Given the description of an element on the screen output the (x, y) to click on. 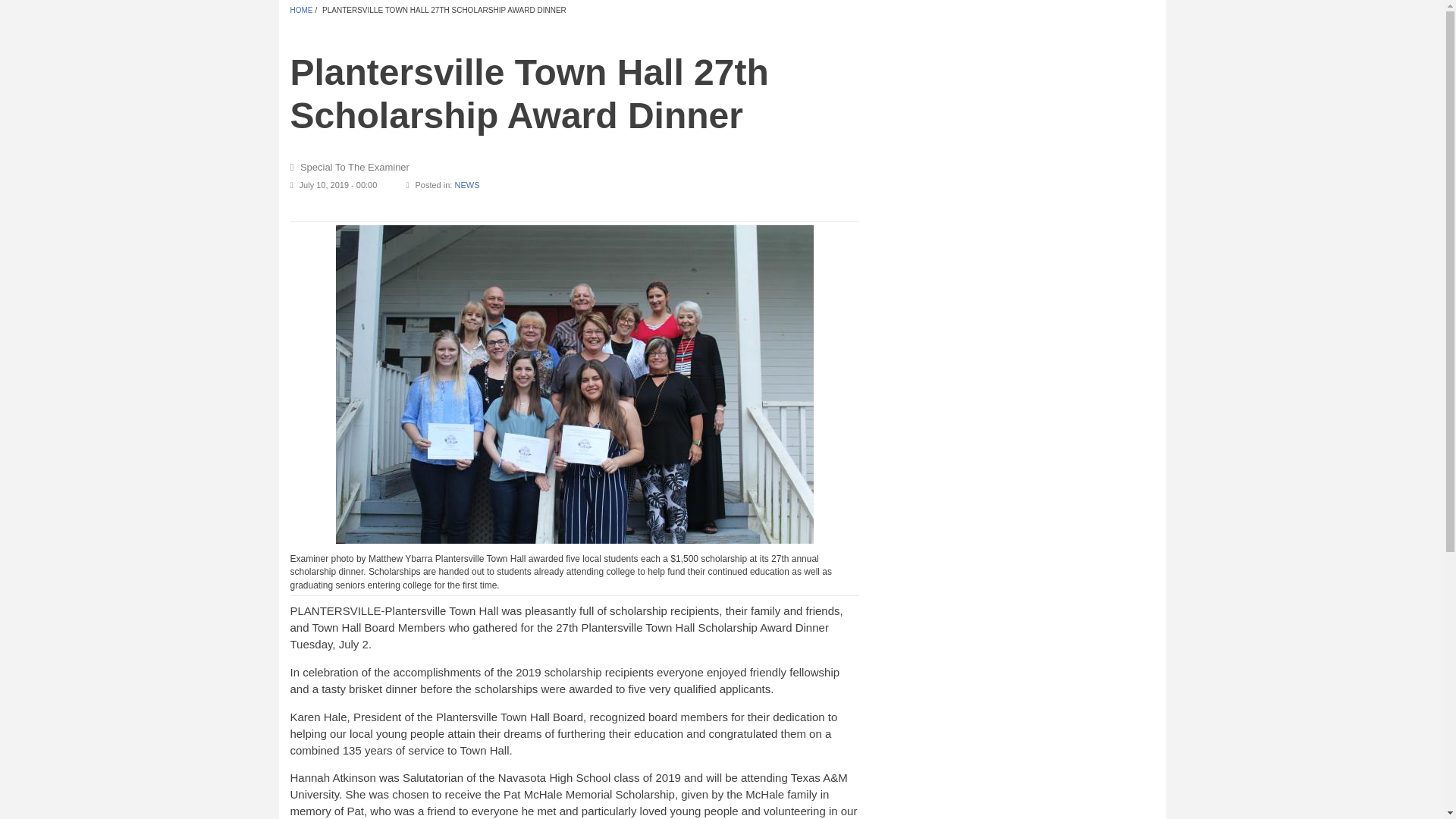
HOME (301, 9)
